Given the description of an element on the screen output the (x, y) to click on. 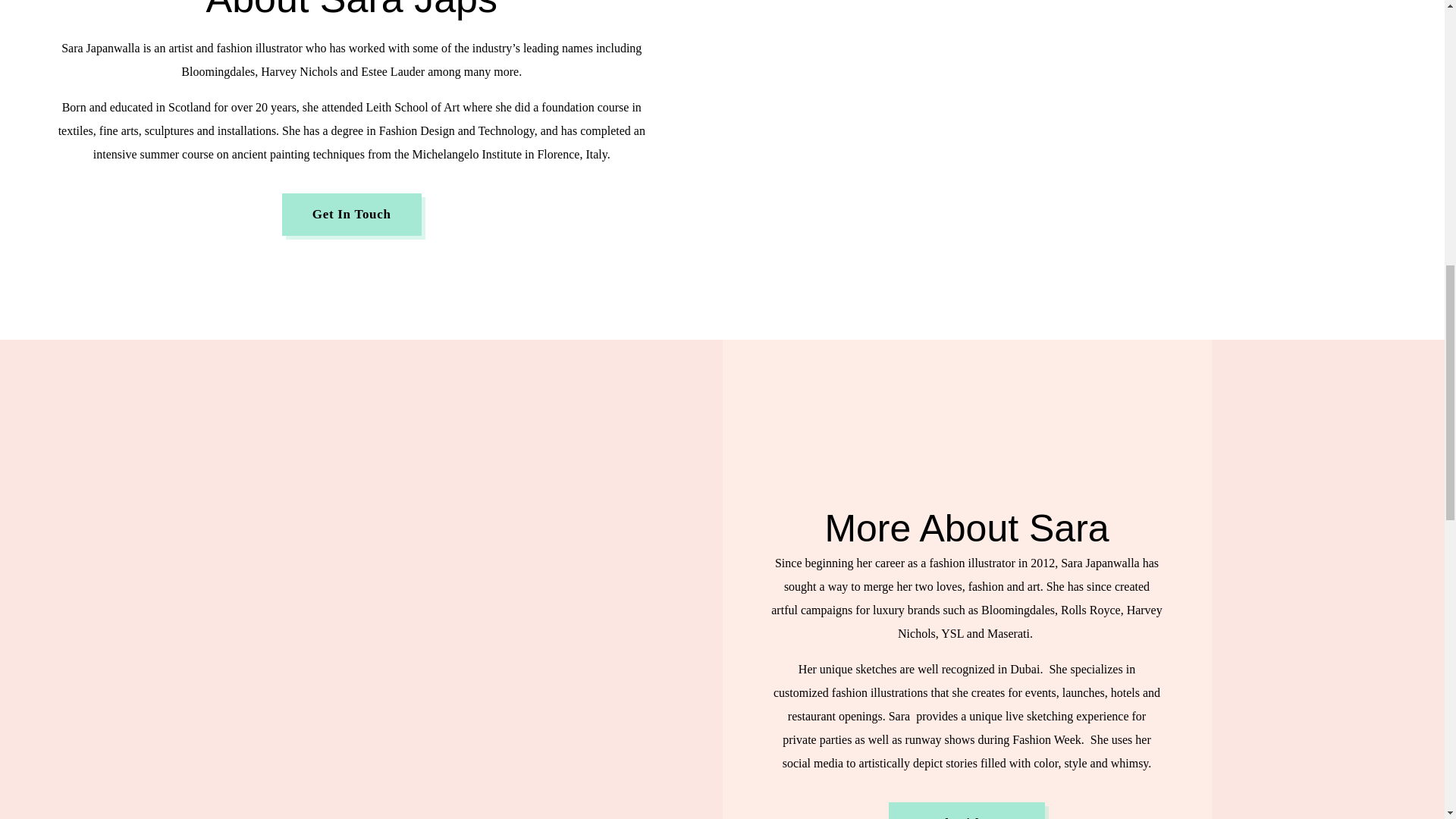
Get In Touch (352, 214)
Work with Sara (966, 810)
